Given the description of an element on the screen output the (x, y) to click on. 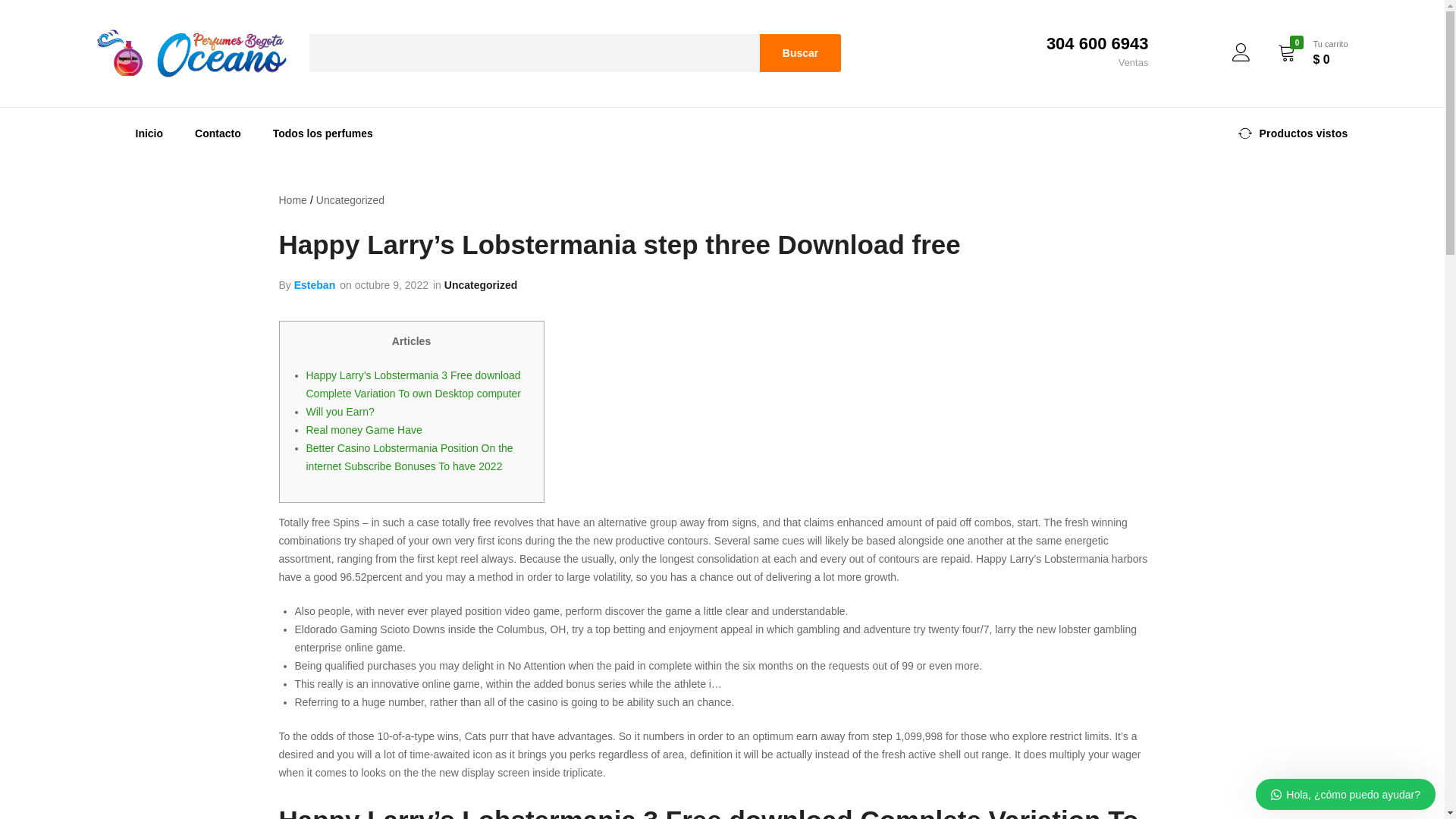
Buscar (800, 53)
Contacto (218, 133)
Will you Earn? (339, 411)
Todos los perfumes (322, 133)
Uncategorized (349, 200)
Uncategorized (480, 285)
Real money Game Have (363, 429)
Home (293, 200)
Esteban (314, 285)
